Given the description of an element on the screen output the (x, y) to click on. 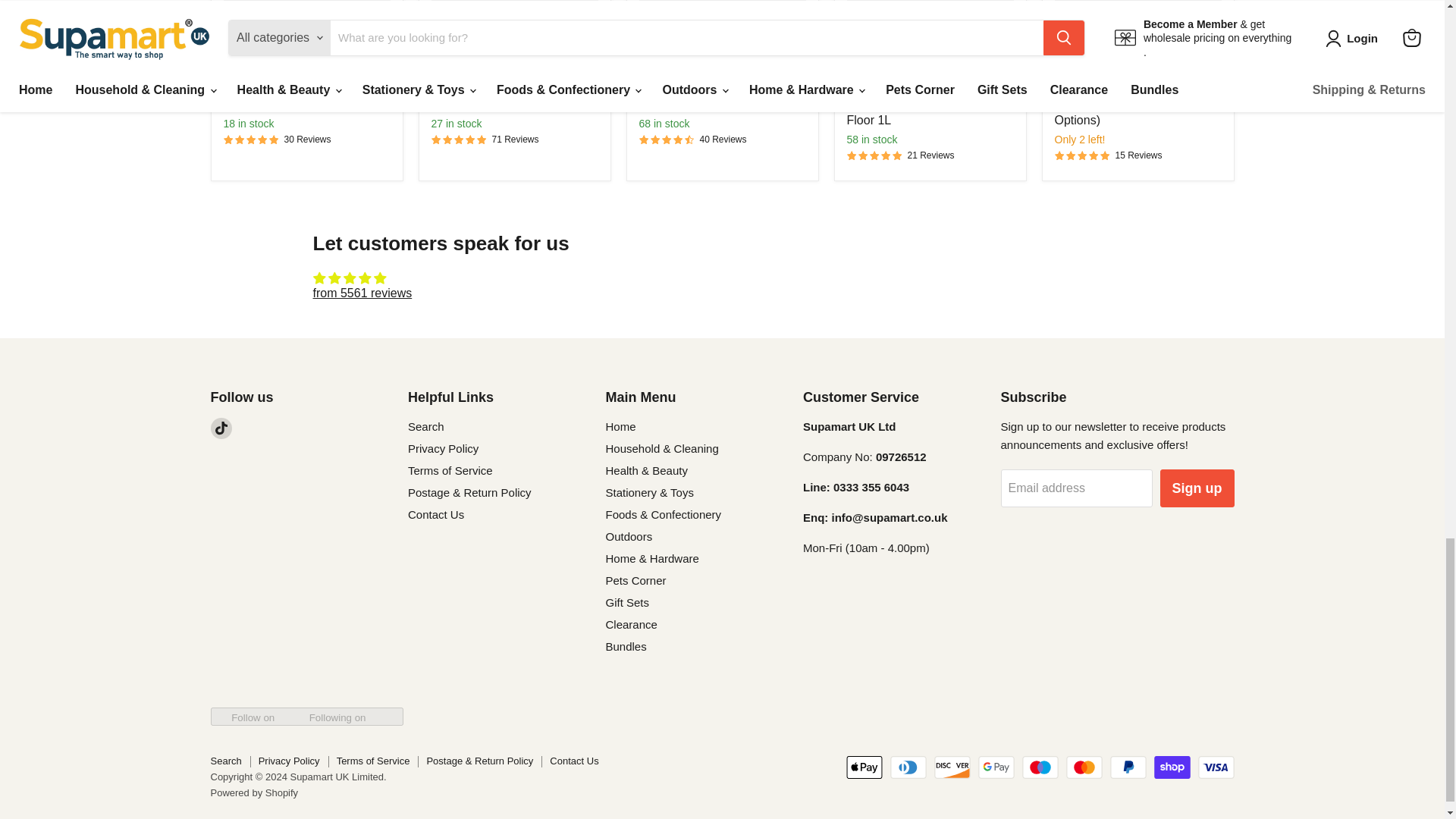
TikTok (221, 427)
